Given the description of an element on the screen output the (x, y) to click on. 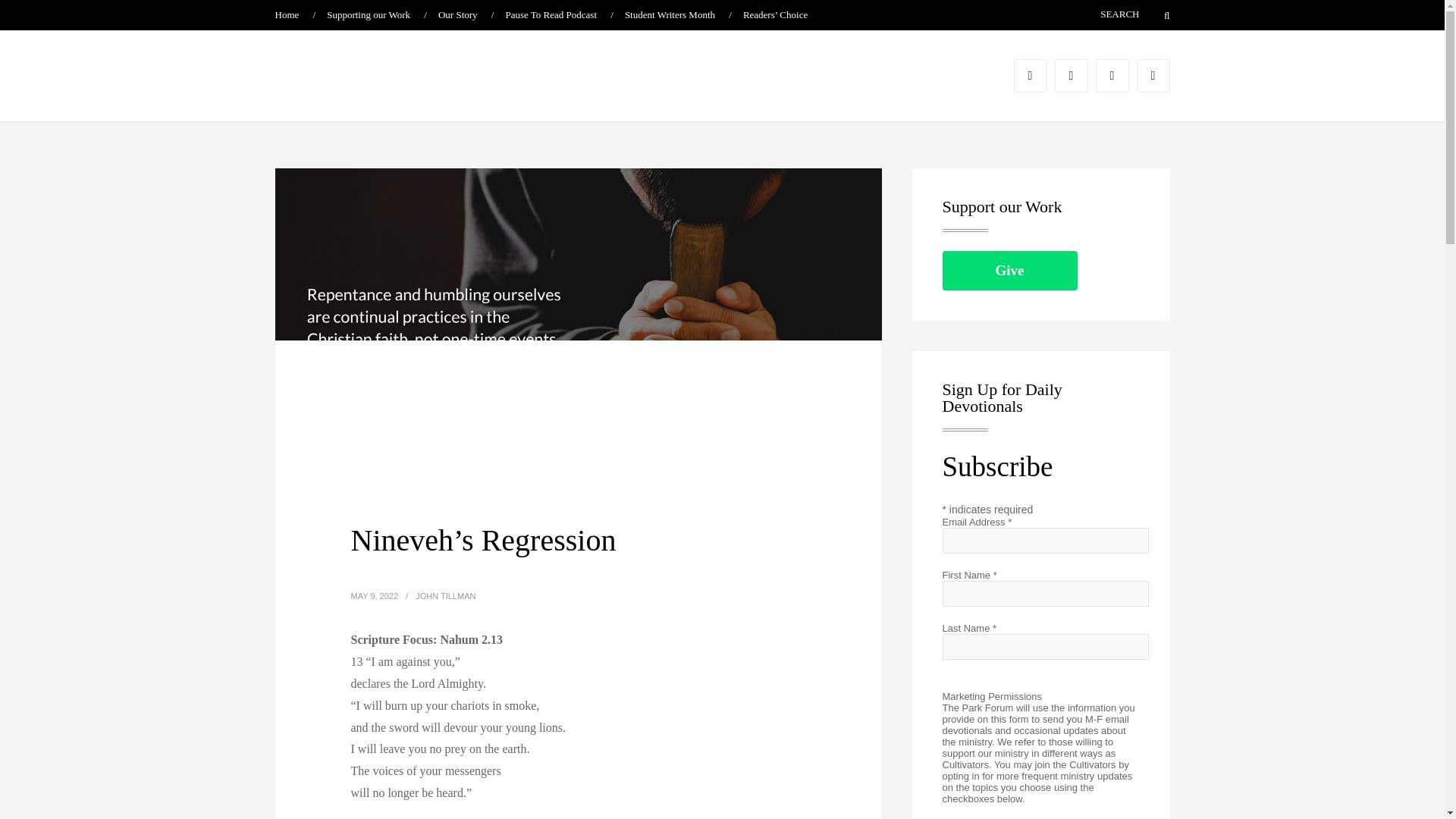
Give (1009, 270)
Student Writers Month (669, 14)
Search (1158, 15)
Pause To Read Podcast (550, 14)
SEARCH (1096, 14)
Our Story (457, 14)
Home (286, 14)
Supporting our Work (368, 14)
